Given the description of an element on the screen output the (x, y) to click on. 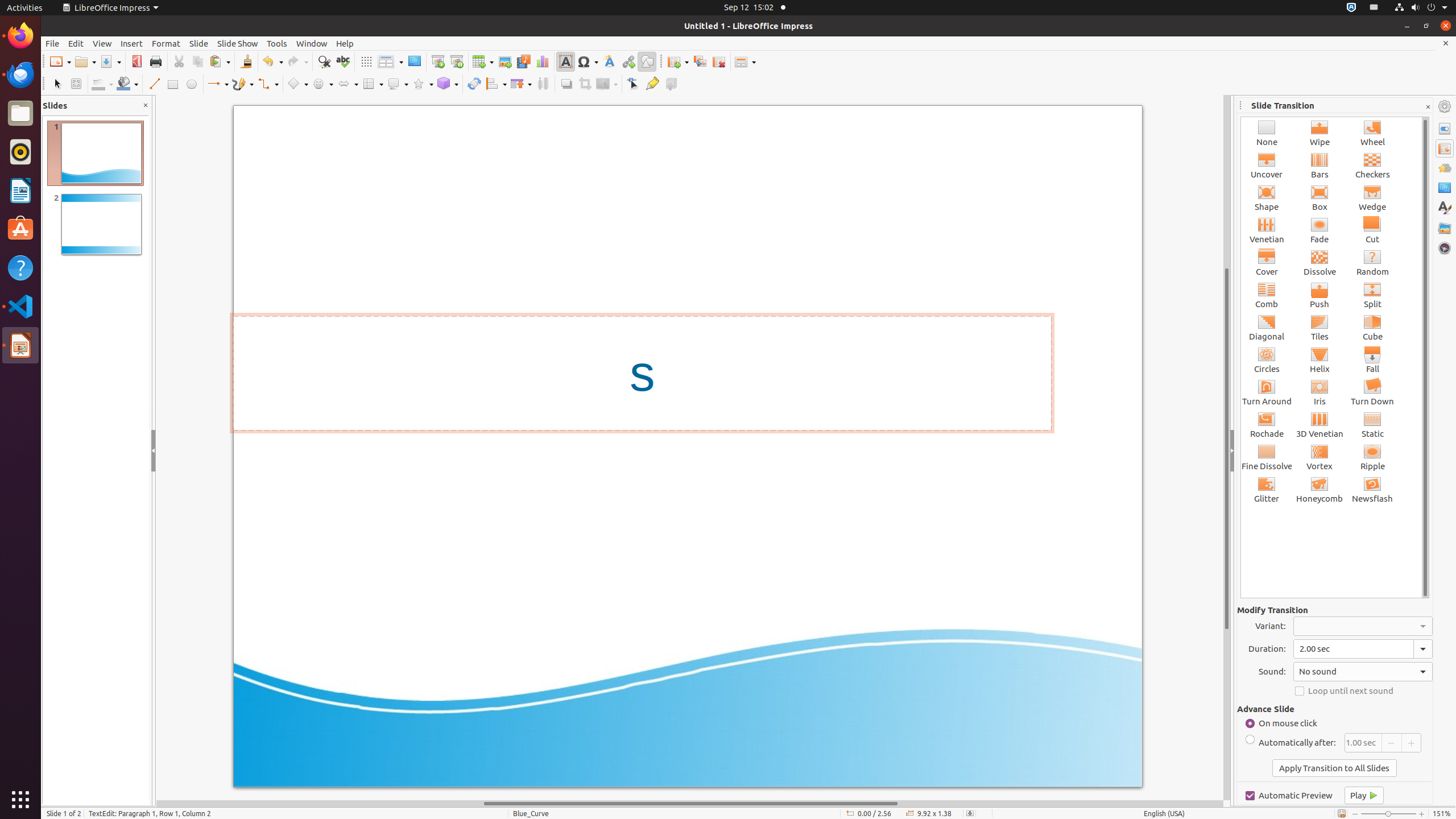
Loop until next sound Element type: check-box (1362, 690)
Thunderbird Mail Element type: push-button (20, 74)
Cut Element type: list-item (1372, 229)
Text Box Element type: push-button (565, 61)
Display Views Element type: push-button (389, 61)
